Given the description of an element on the screen output the (x, y) to click on. 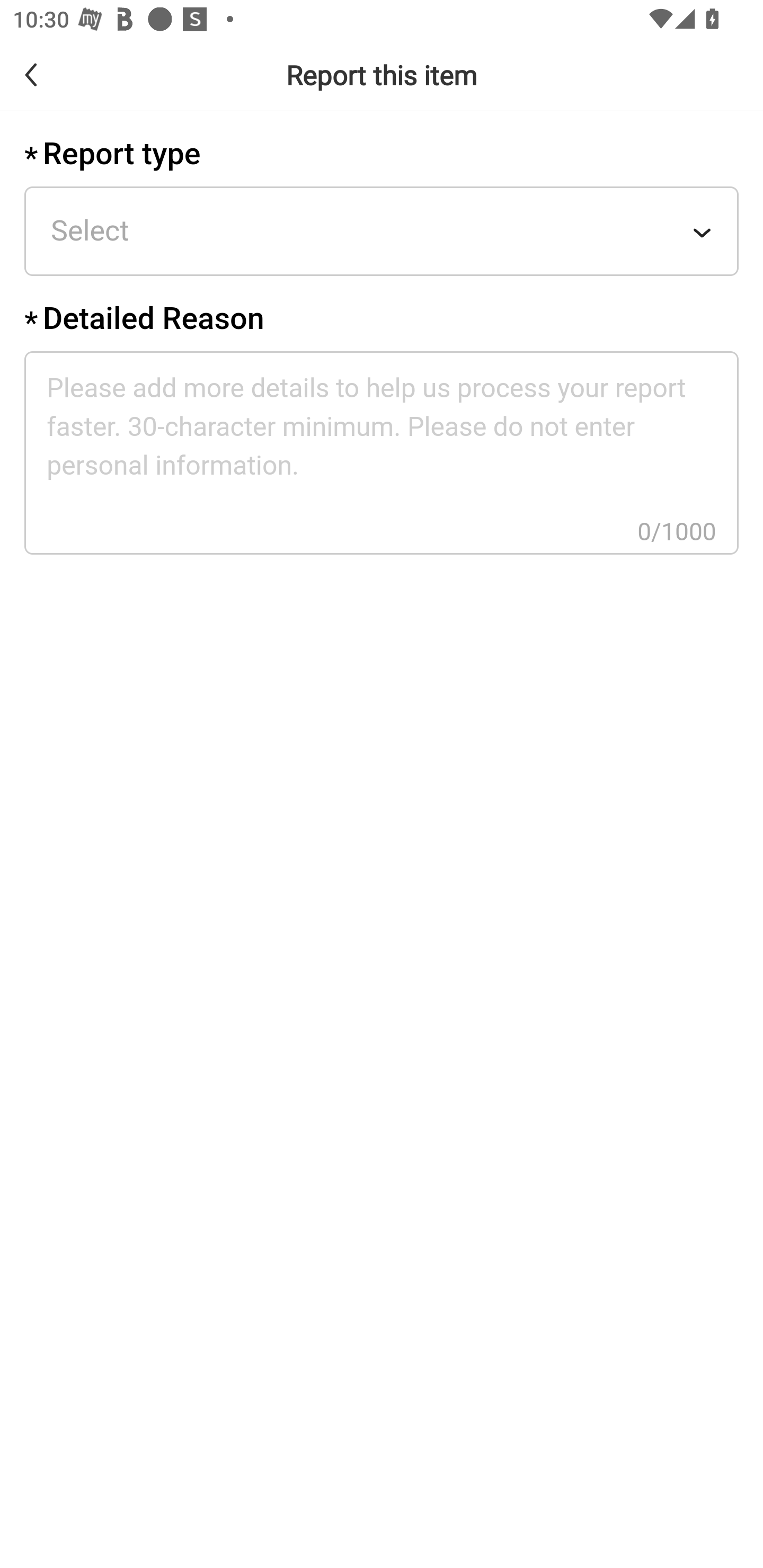
Back back (46, 74)
Select (381, 230)
